Given the description of an element on the screen output the (x, y) to click on. 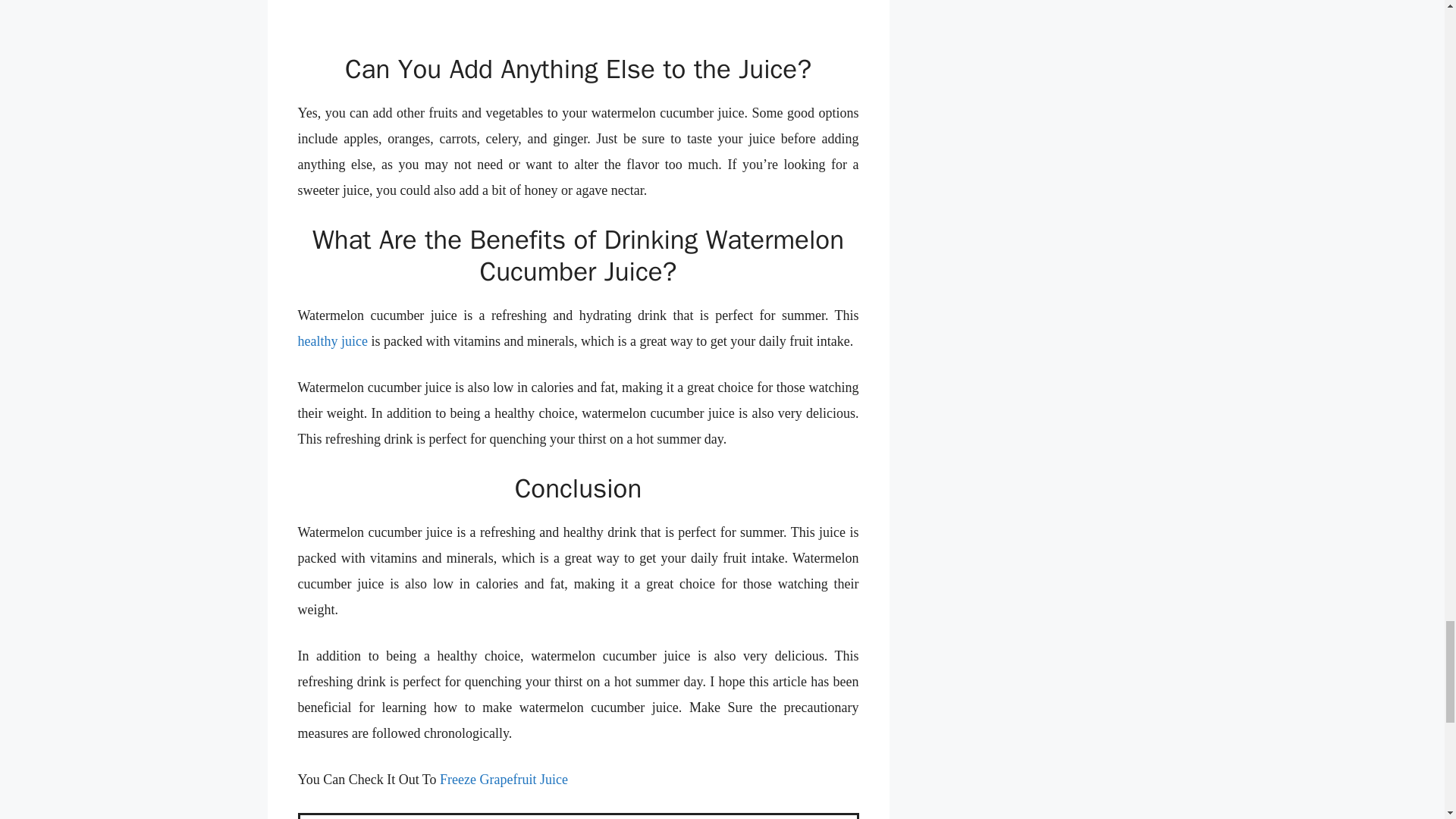
healthy juice (331, 340)
Freeze Grapefruit Juice (503, 779)
